Given the description of an element on the screen output the (x, y) to click on. 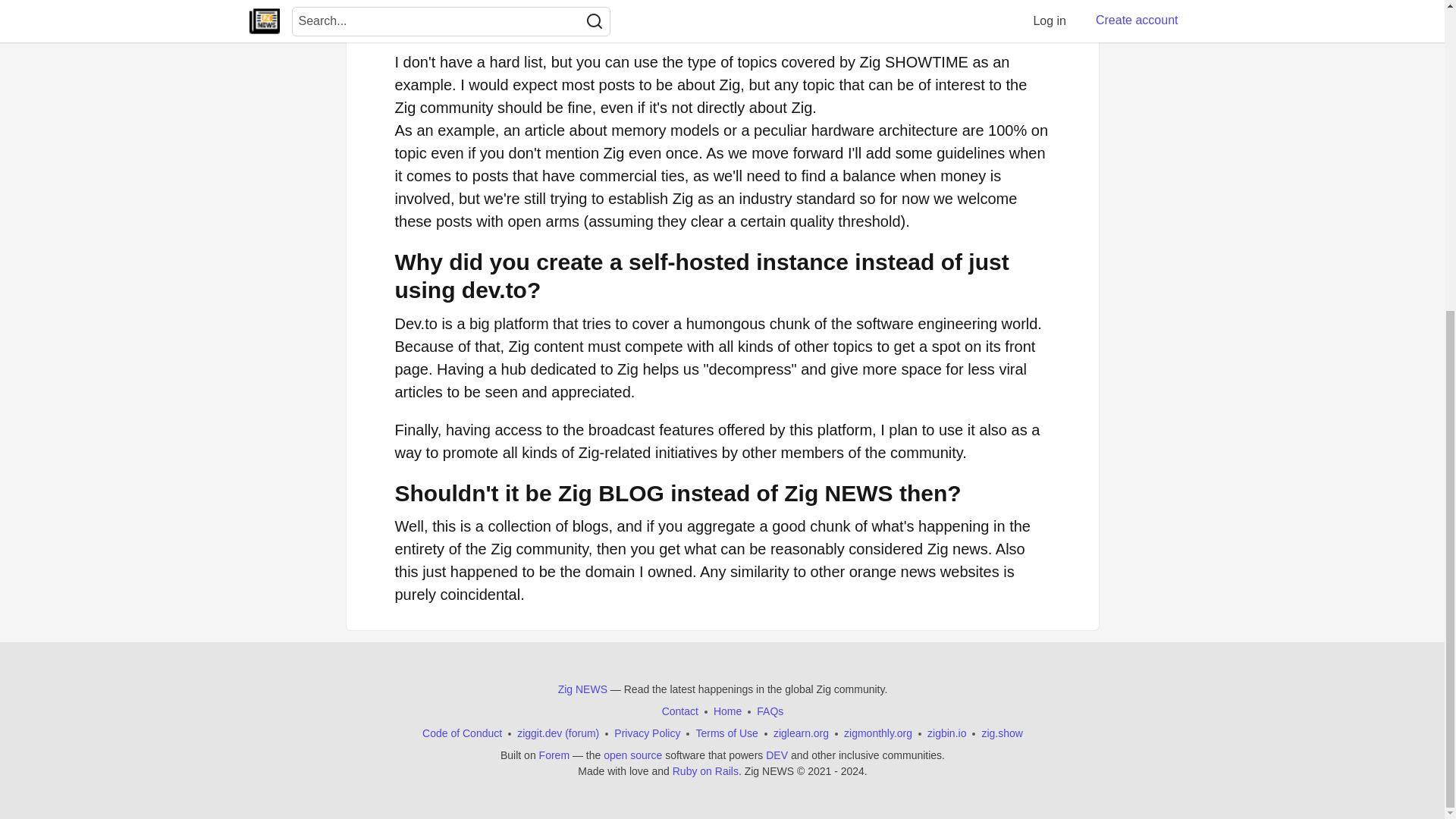
DEV (776, 755)
Ruby on Rails (704, 771)
Code of Conduct (462, 733)
zigbin.io (946, 733)
FAQs (770, 711)
zigmonthly.org (878, 733)
Privacy Policy (646, 733)
Zig NEWS (582, 689)
ziglearn.org (800, 733)
Contact (679, 711)
Forem (553, 755)
zig.show (1001, 733)
open source (633, 755)
Home (727, 711)
Terms of Use (726, 733)
